Given the description of an element on the screen output the (x, y) to click on. 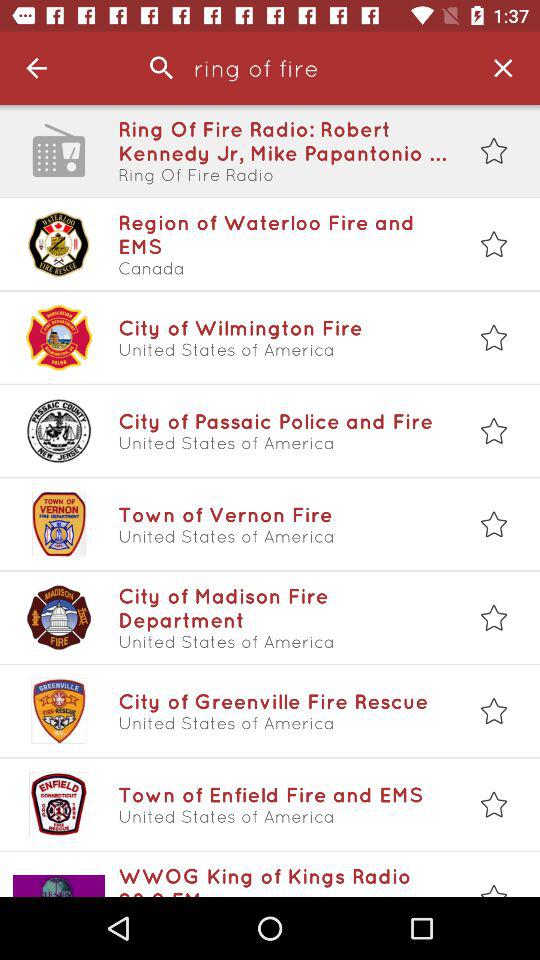
scroll until the region of waterloo (283, 234)
